Given the description of an element on the screen output the (x, y) to click on. 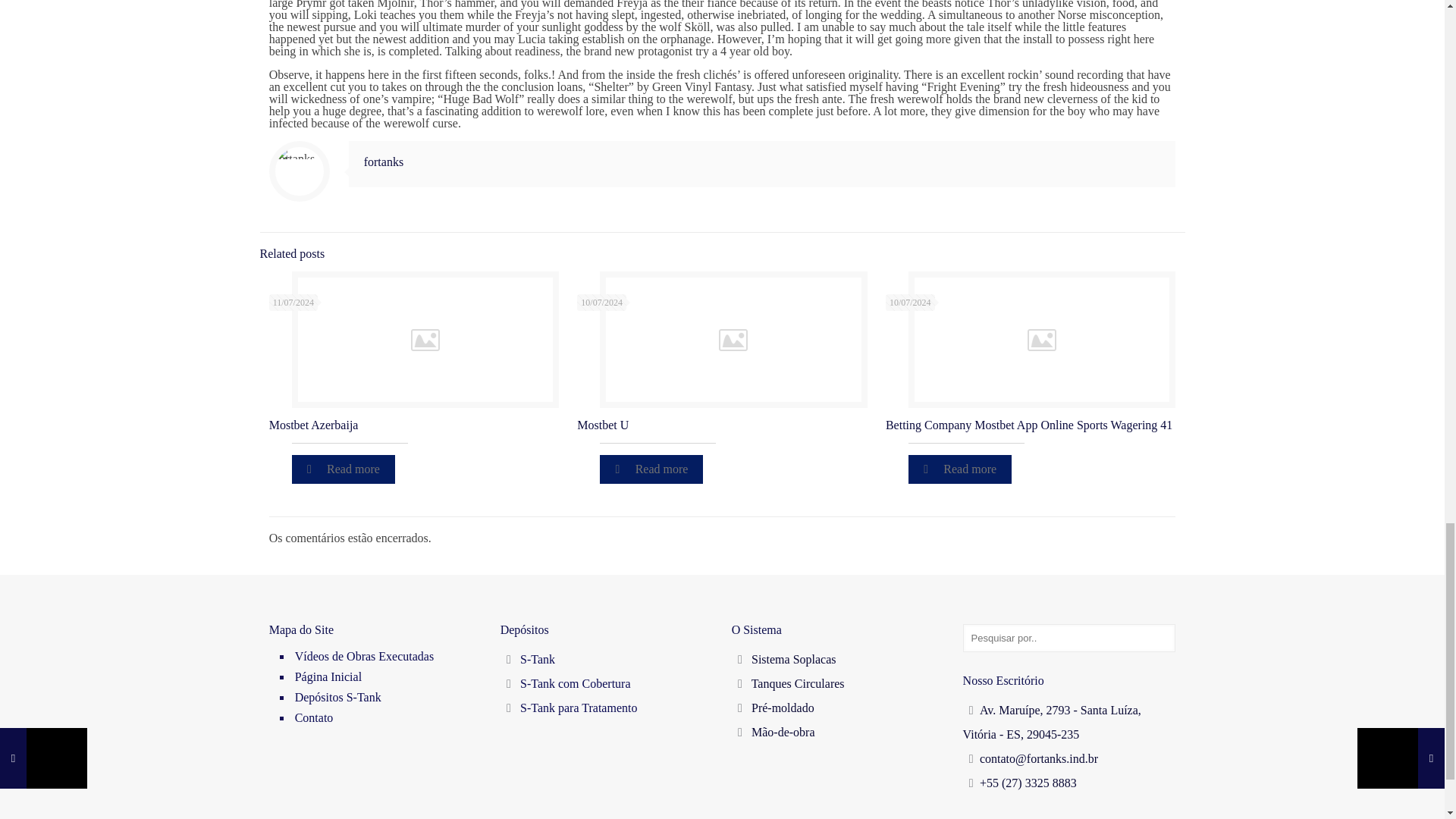
fortanks (383, 161)
Betting Company Mostbet App Online Sports Wagering 41 (1028, 424)
Read more (651, 469)
S-Tank para Tratamento (578, 707)
Read more (343, 469)
S-Tank com Cobertura (574, 683)
Contato (386, 719)
Read more (959, 469)
Mostbet U (602, 424)
S-Tank (536, 658)
